Given the description of an element on the screen output the (x, y) to click on. 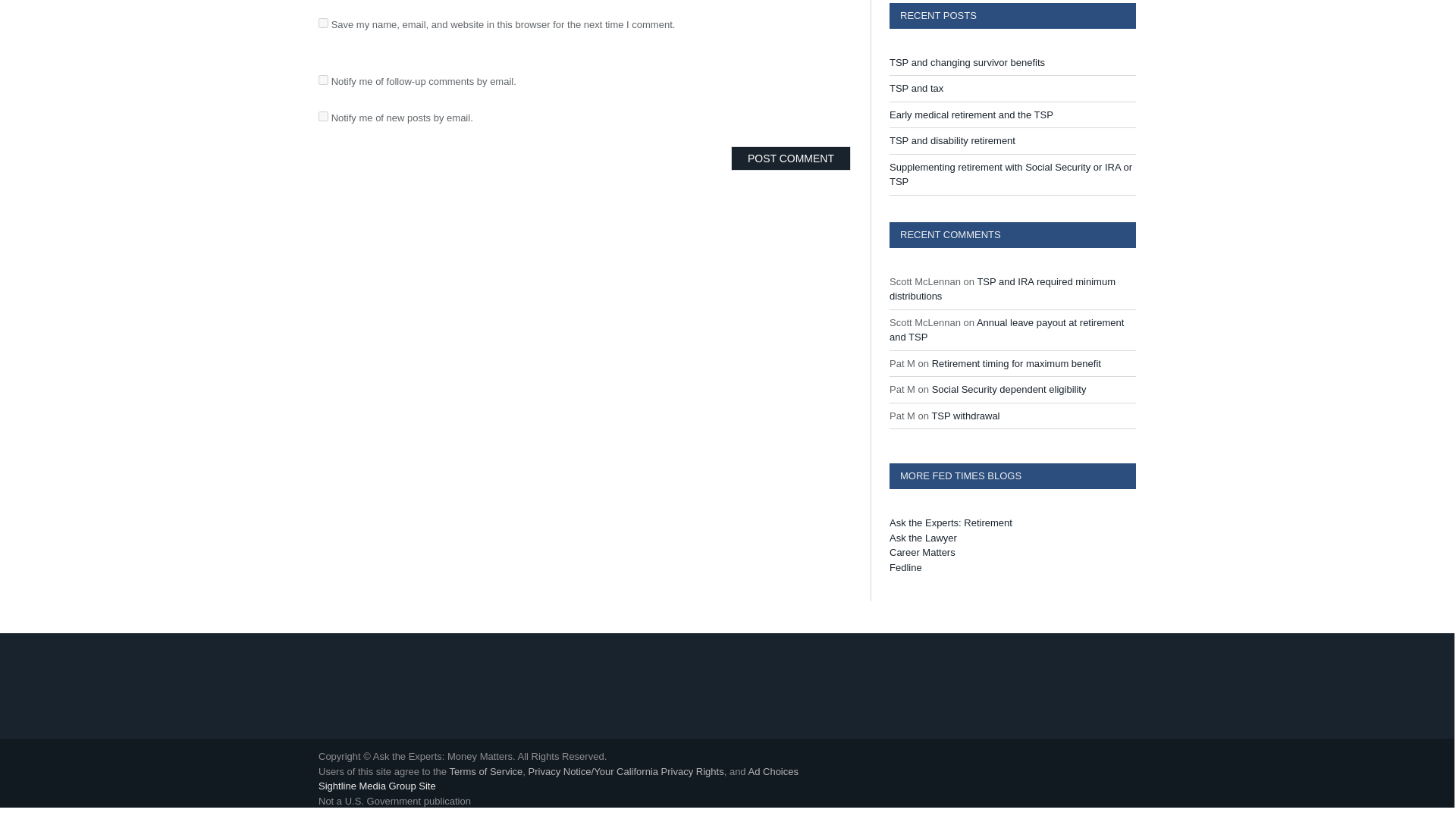
yes (323, 22)
subscribe (323, 115)
Post Comment (790, 158)
subscribe (323, 80)
